Given the description of an element on the screen output the (x, y) to click on. 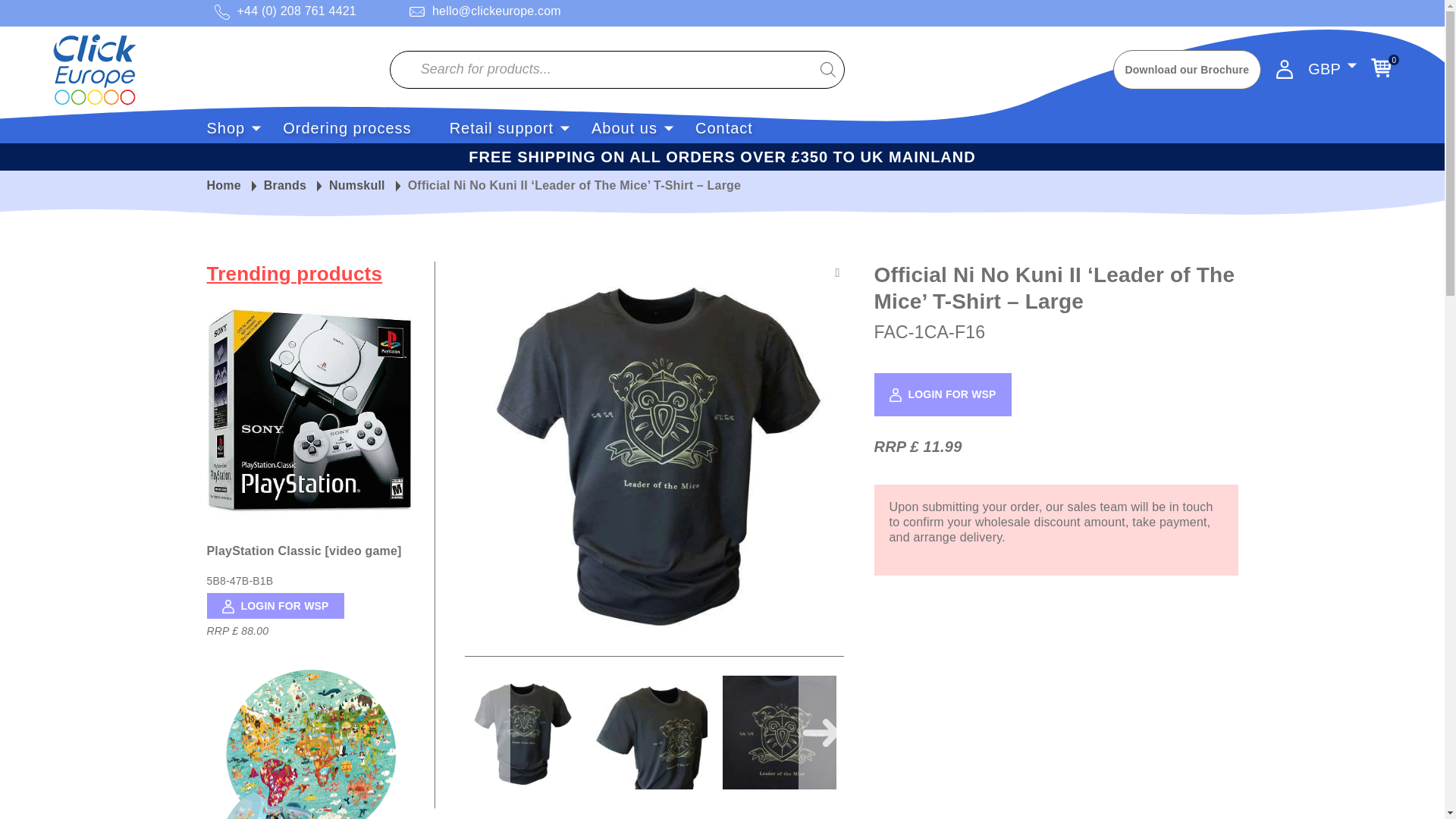
Ordering process (346, 127)
Shop (225, 127)
Contact (723, 127)
GBP (1324, 69)
GBP (1343, 83)
View your shopping cart (1381, 67)
Download our Brochure (1187, 69)
Retail support (501, 127)
0 (1381, 67)
About us (624, 127)
